Given the description of an element on the screen output the (x, y) to click on. 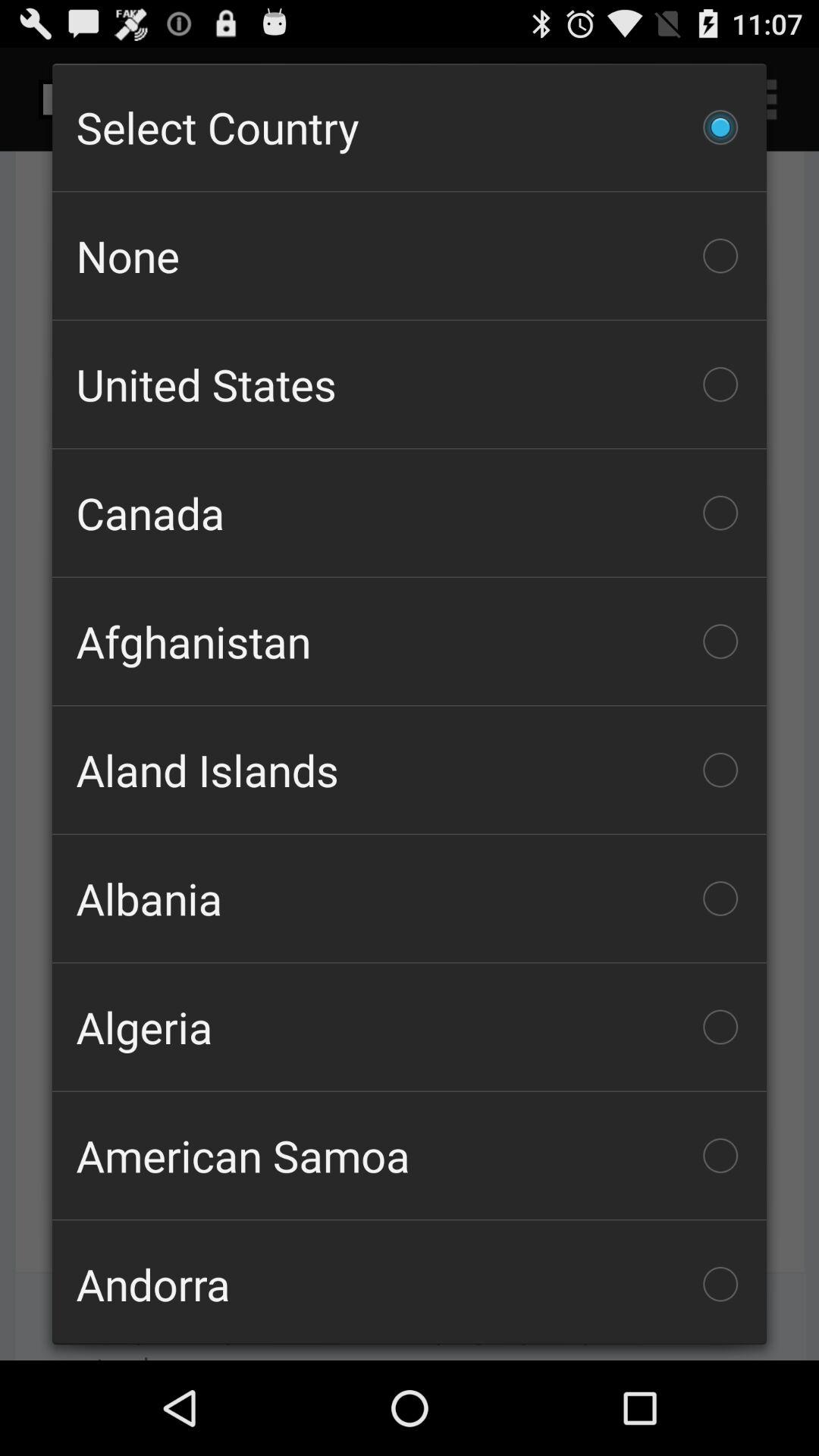
launch the icon below albania item (409, 1026)
